Given the description of an element on the screen output the (x, y) to click on. 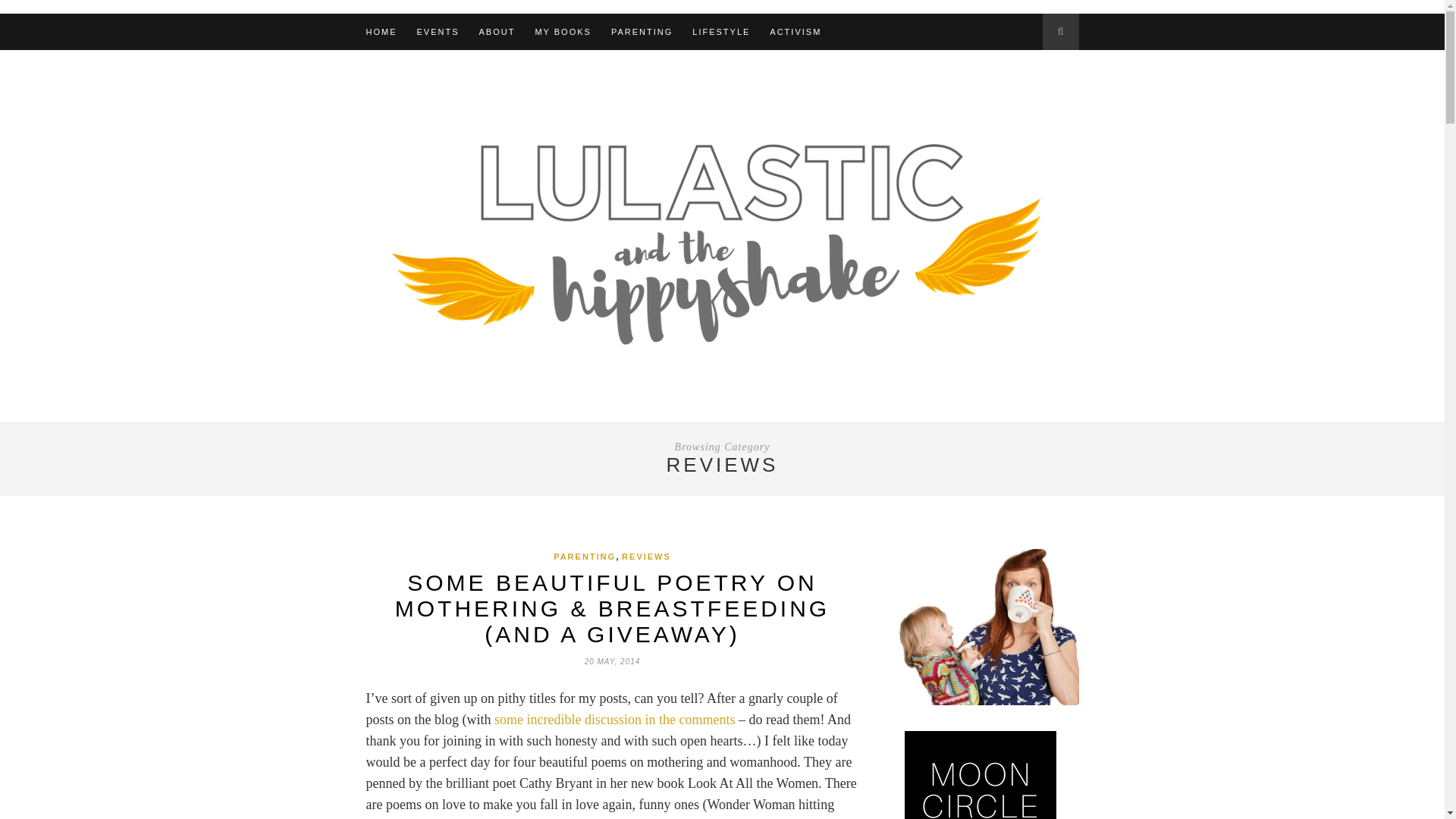
ABOUT (497, 31)
View all posts in Reviews (646, 556)
EVENTS (438, 31)
PARENTING (641, 31)
View all posts in Parenting (584, 556)
ACTIVISM (795, 31)
LIFESTYLE (721, 31)
MY BOOKS (562, 31)
